Given the description of an element on the screen output the (x, y) to click on. 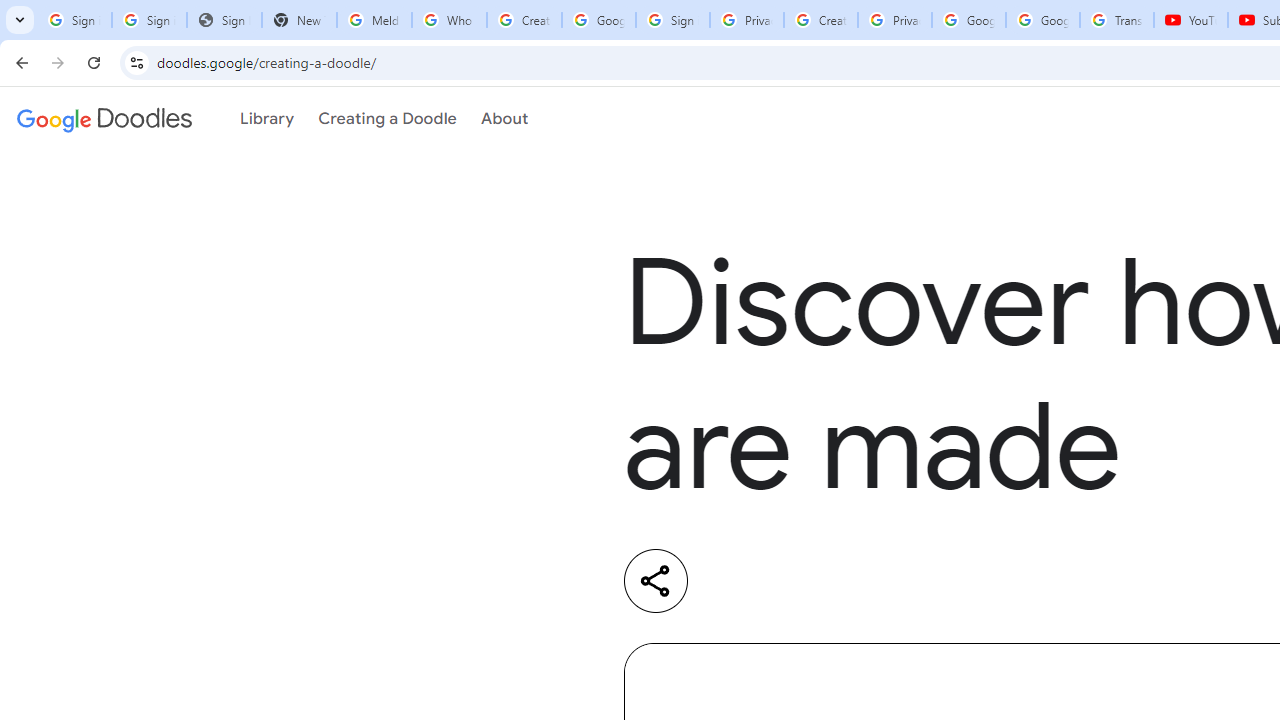
YouTube (1190, 20)
Share on Linkedin (736, 581)
About (504, 119)
Share (655, 580)
Creating a Doodle (387, 119)
Library (267, 119)
New Tab (299, 20)
Sign in - Google Accounts (148, 20)
